Given the description of an element on the screen output the (x, y) to click on. 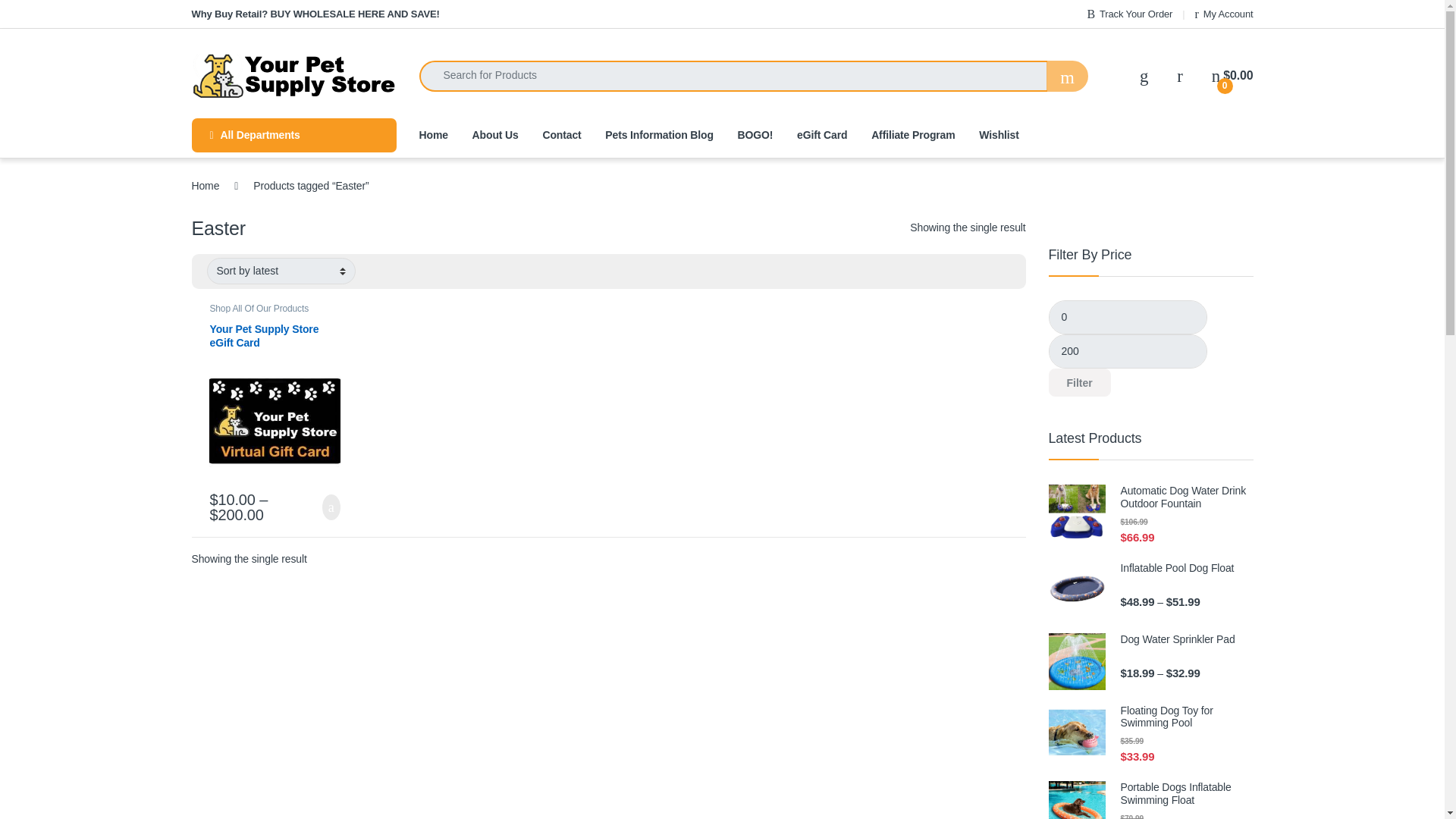
Why Buy Retail? BUY WHOLESALE HERE AND SAVE! (314, 13)
My Account (1224, 13)
Track Your Order (1129, 13)
200 (1127, 351)
My Account (1224, 13)
0 (1127, 317)
Track Your Order (1129, 13)
